Given the description of an element on the screen output the (x, y) to click on. 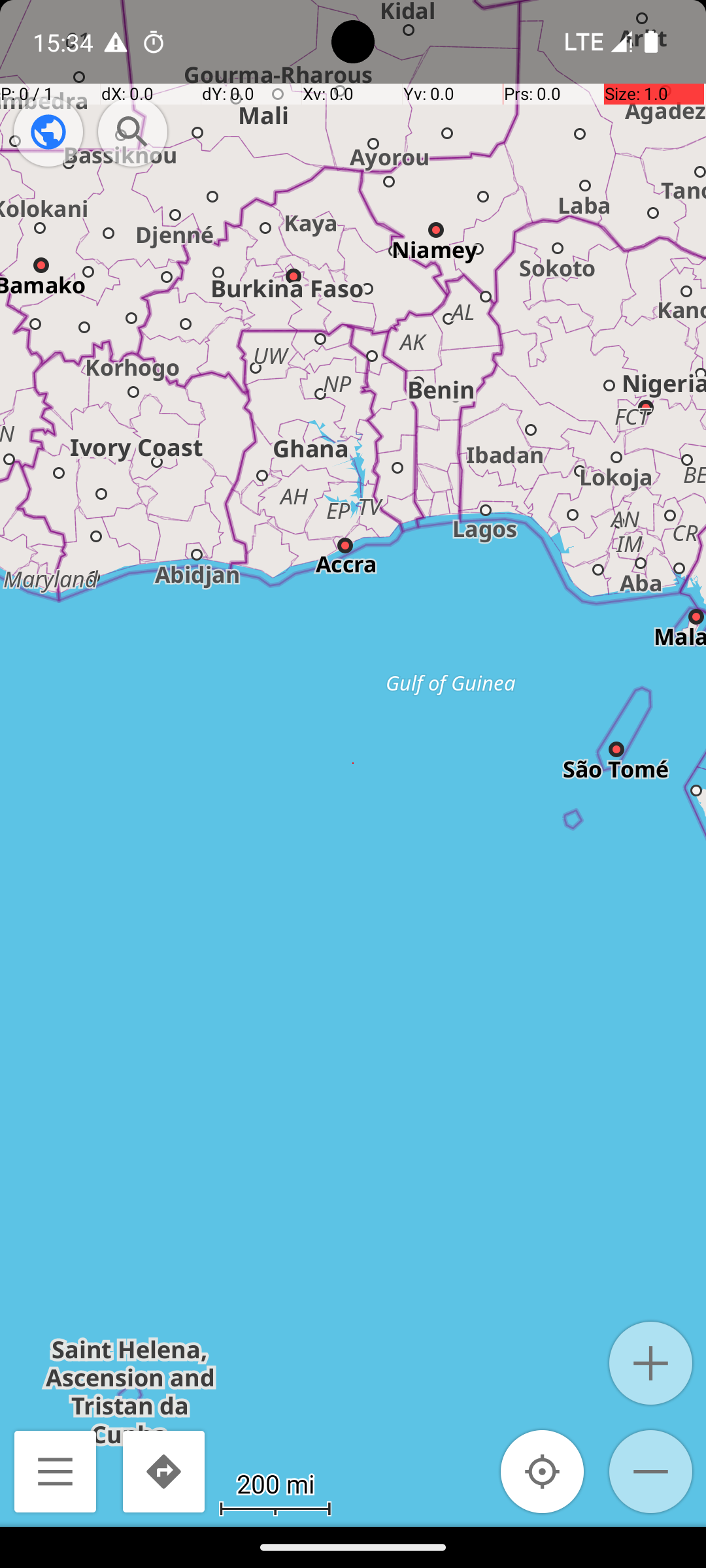
200 mi Element type: android.widget.TextView (274, 1483)
